Given the description of an element on the screen output the (x, y) to click on. 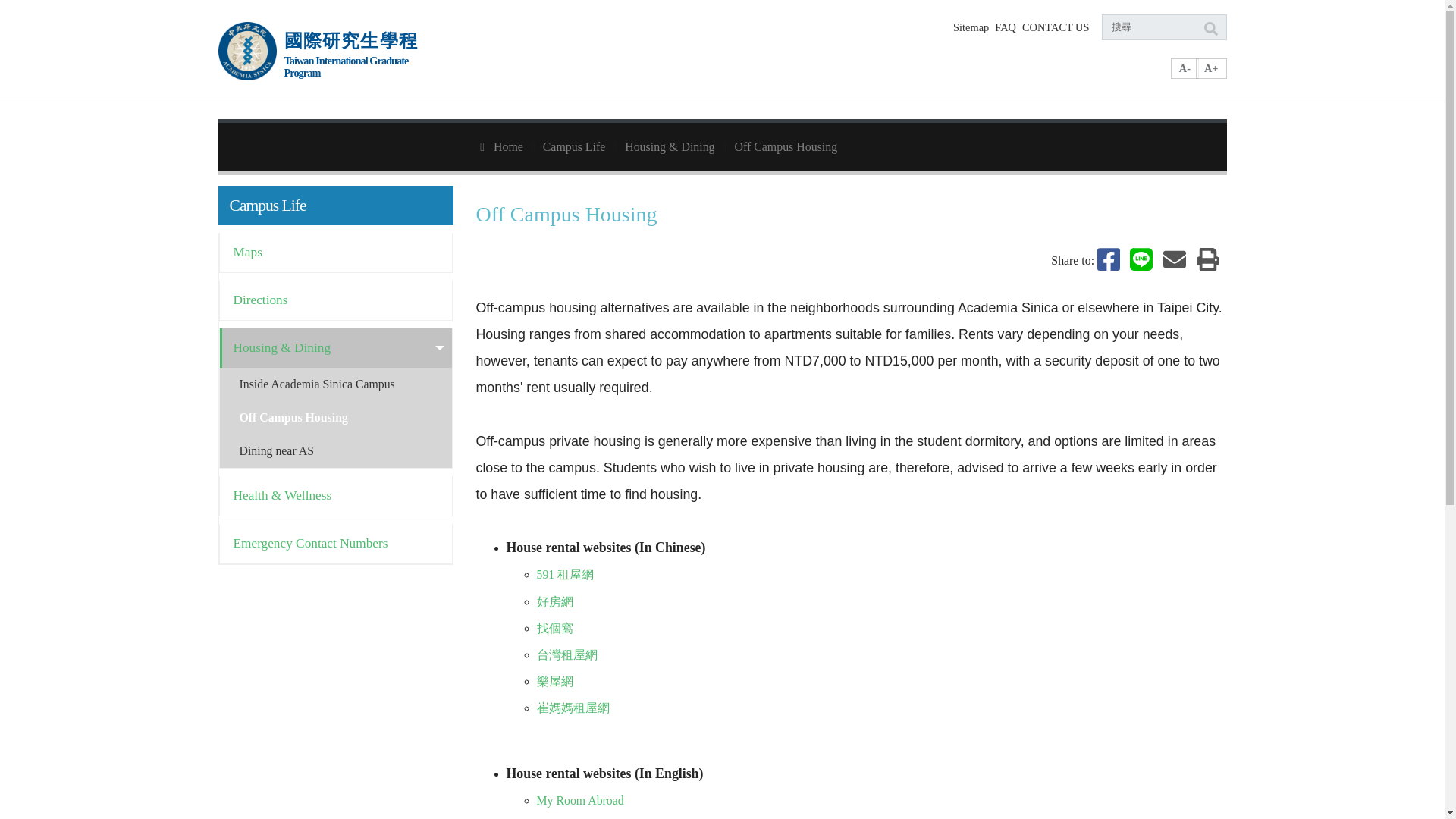
Taiwan International Graduate Program (364, 49)
About TIGP (759, 73)
FAQ (1005, 27)
CONTACT US (1055, 27)
FAQ (1005, 27)
About TIGP (759, 73)
Academics (828, 73)
Sitemap (970, 27)
Campus Life (998, 73)
Academics (828, 73)
